Given the description of an element on the screen output the (x, y) to click on. 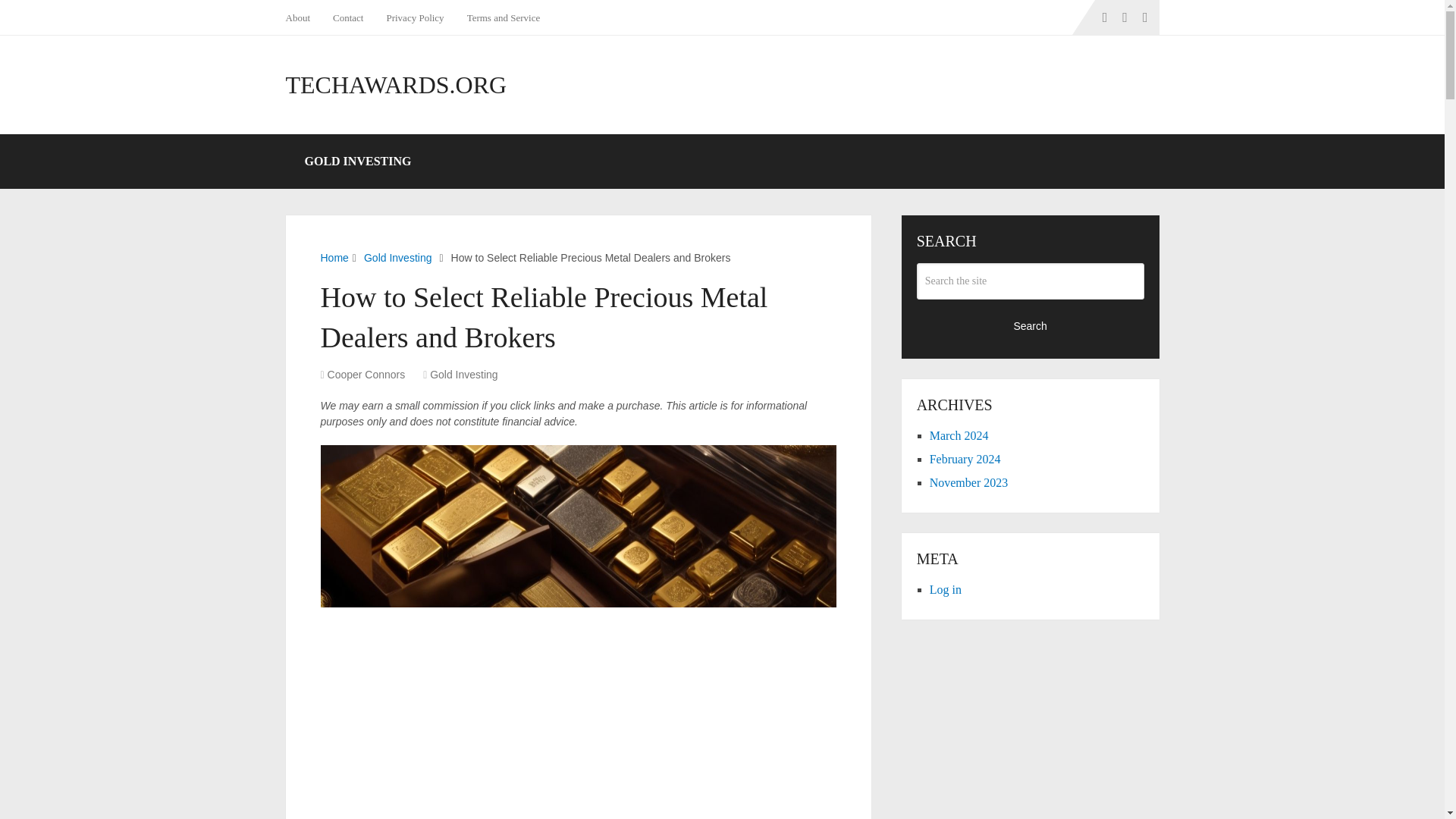
Log in (945, 589)
Home (333, 257)
Gold Investing (398, 257)
GOLD INVESTING (357, 161)
About (303, 17)
Search (1030, 325)
Gold Investing (463, 374)
Privacy Policy (414, 17)
Terms and Service (503, 17)
View all posts in Gold Investing (463, 374)
February 2024 (965, 459)
March 2024 (959, 435)
TECHAWARDS.ORG (395, 84)
Contact (347, 17)
